Given the description of an element on the screen output the (x, y) to click on. 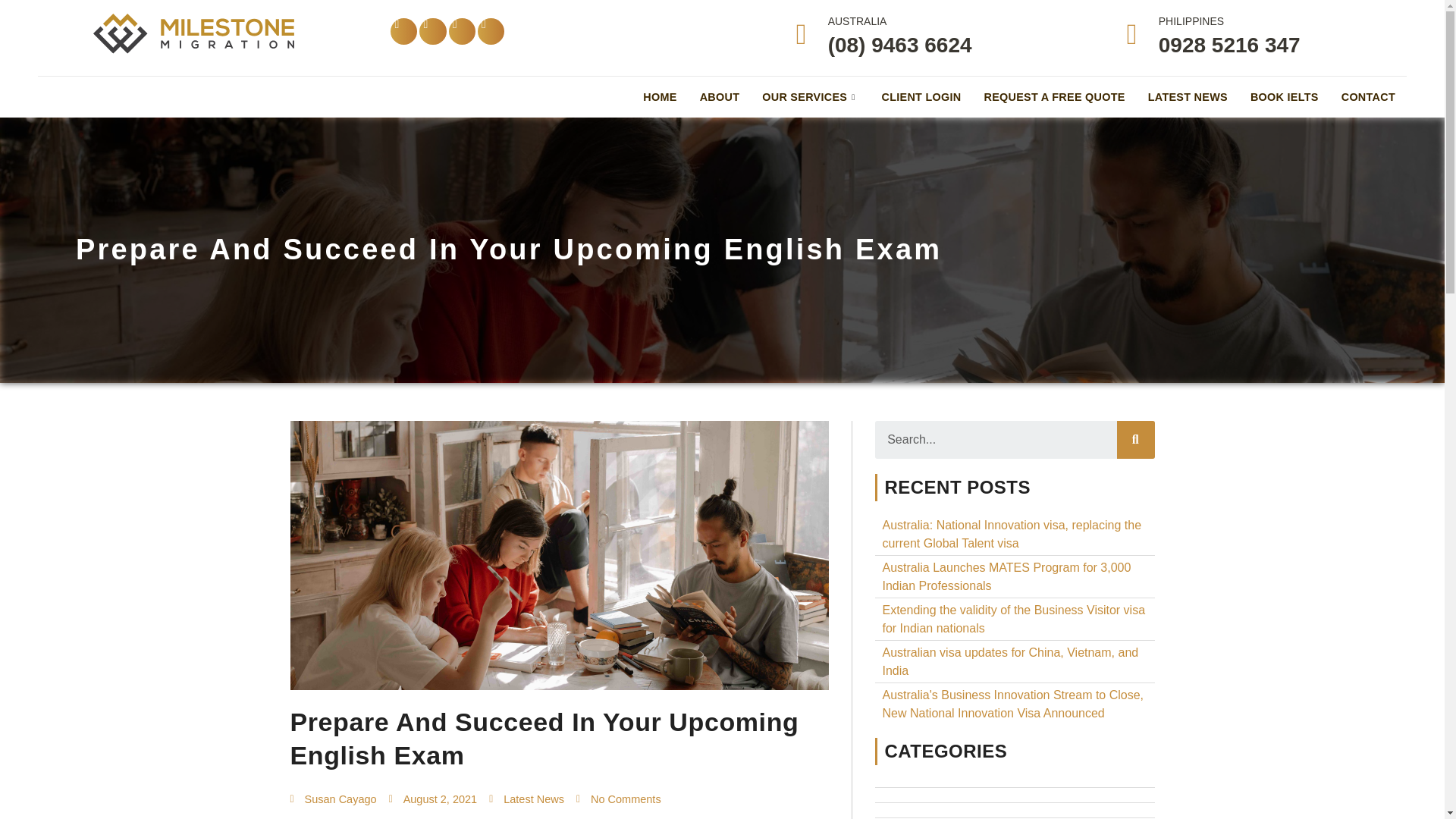
Search (1135, 439)
Search (995, 439)
